Given the description of an element on the screen output the (x, y) to click on. 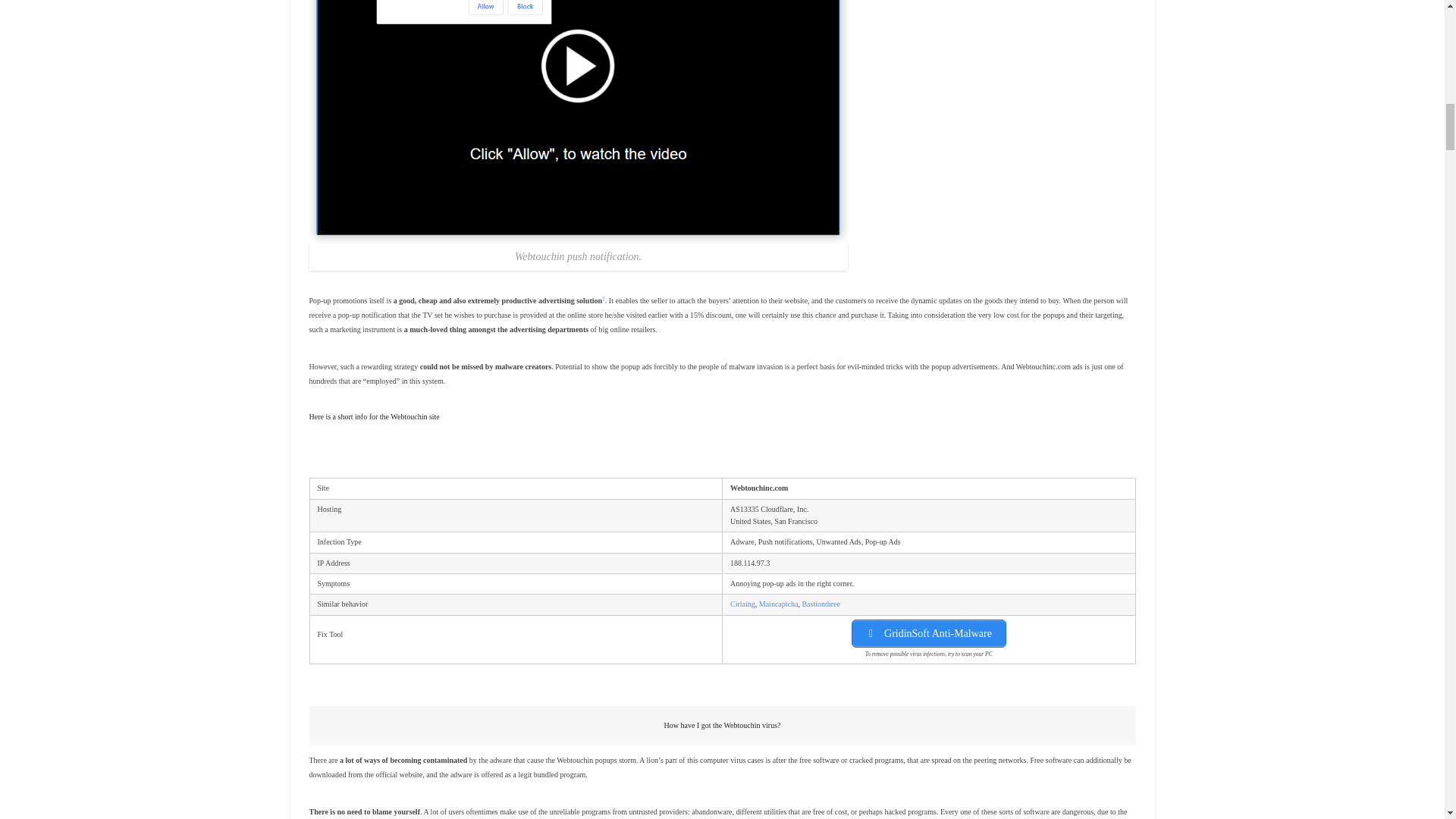
Maincaptcha (777, 603)
GridinSoft Anti-Malware (928, 633)
Cirlaing (742, 603)
Bastionthree (821, 603)
